Given the description of an element on the screen output the (x, y) to click on. 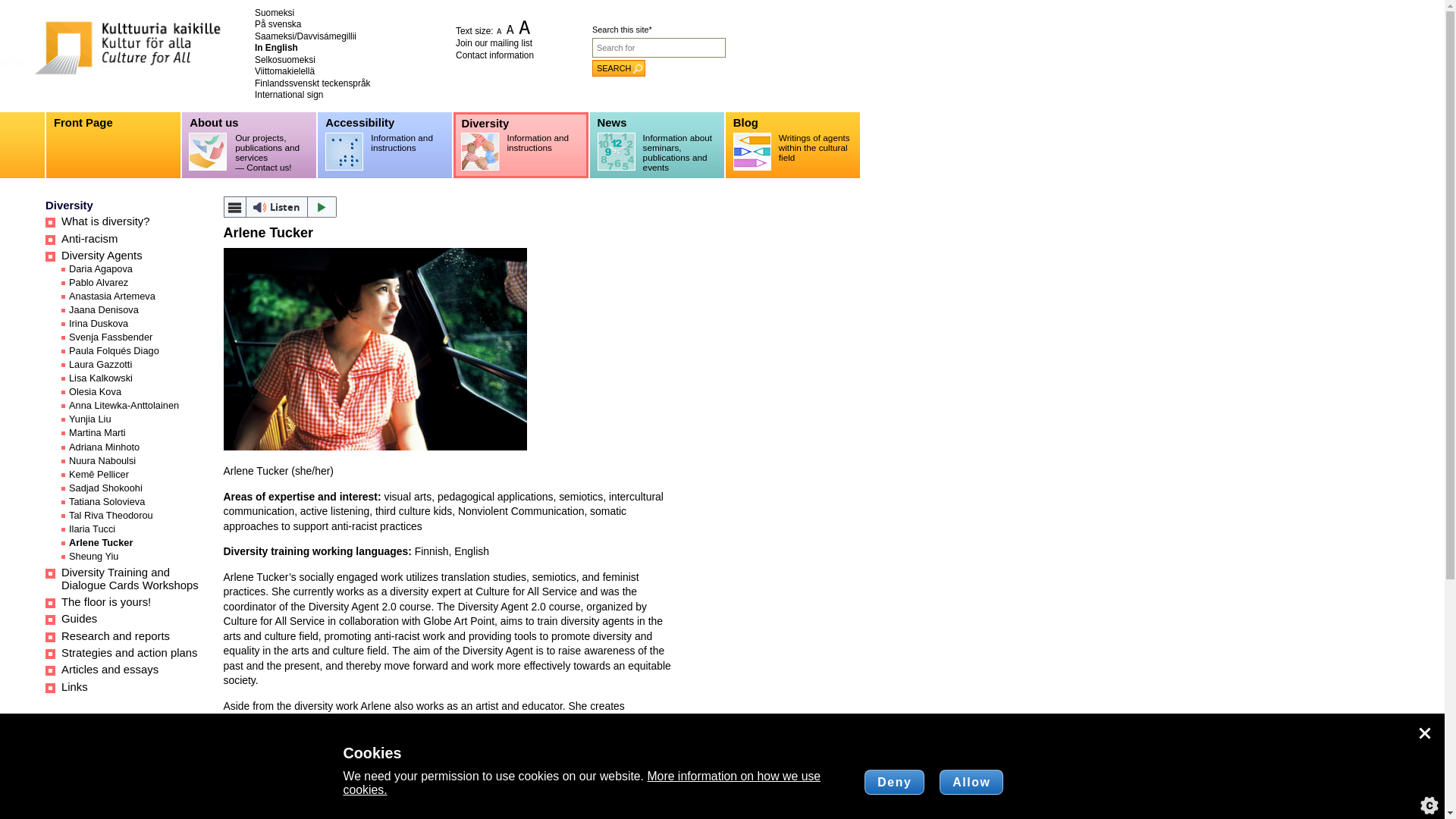
Suomeksi (274, 12)
SEARCH (618, 67)
Join our mailing list (493, 42)
In English (276, 47)
Deny (894, 782)
International sign (288, 94)
SEARCH (618, 67)
Front Page (113, 145)
webReader menu (234, 206)
Contact information (494, 54)
Selkosuomeksi (284, 59)
Allow (971, 782)
Listen to this page using ReadSpeaker (279, 206)
